Given the description of an element on the screen output the (x, y) to click on. 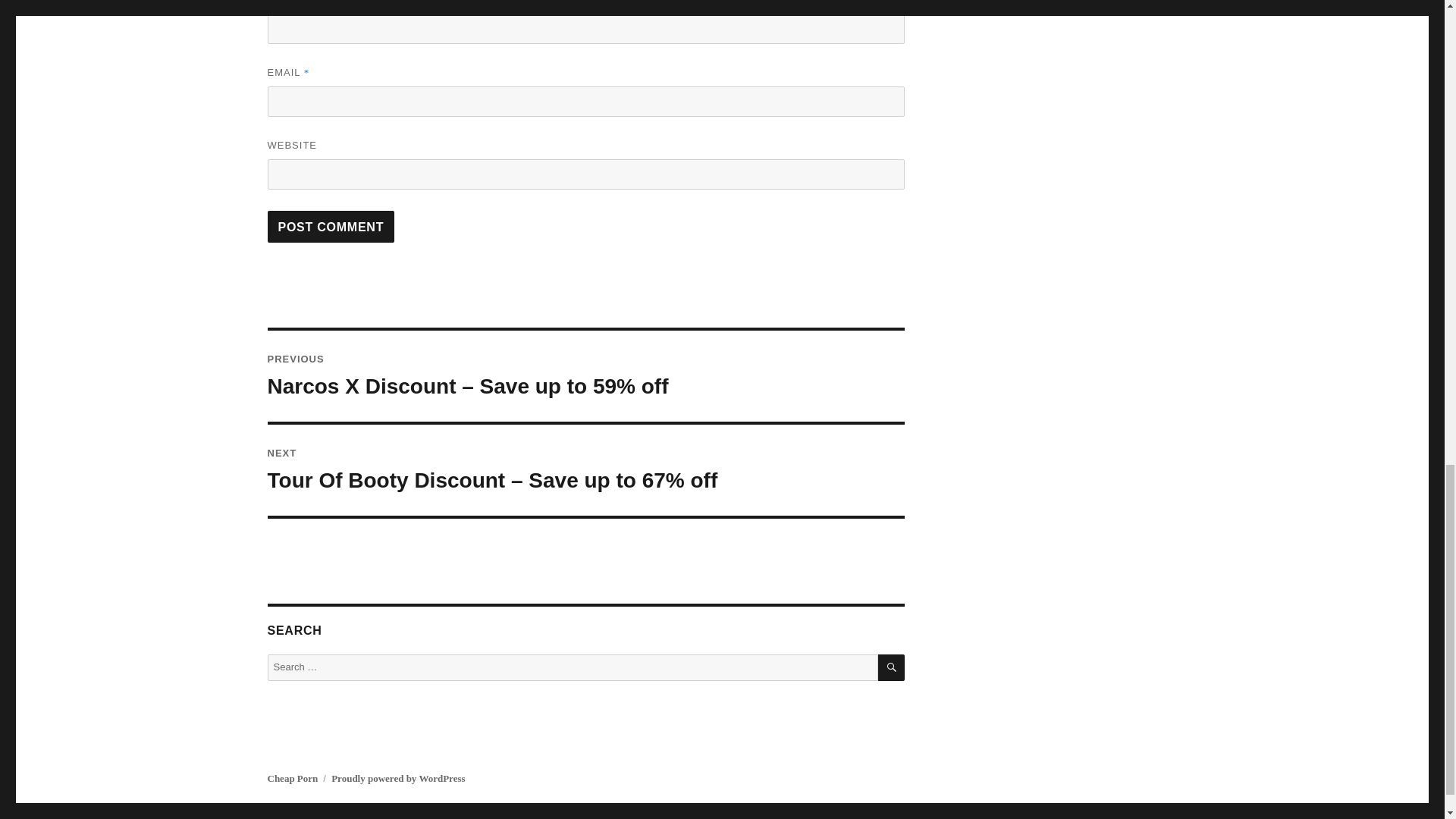
SEARCH (890, 667)
Post Comment (330, 226)
Post Comment (330, 226)
